Given the description of an element on the screen output the (x, y) to click on. 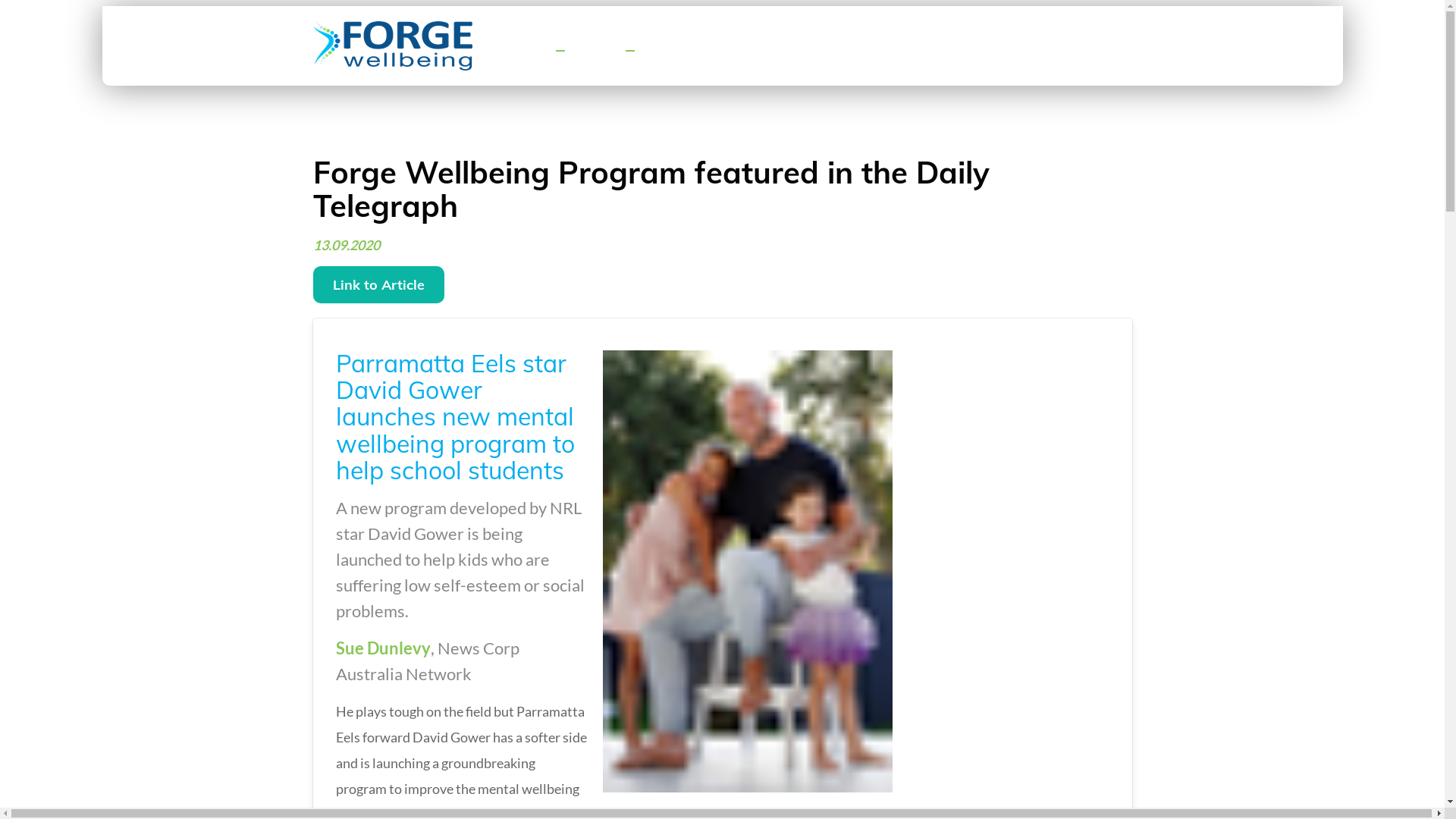
Toggle navigation Element type: text (628, 50)
Link to Article Element type: text (377, 284)
Sue Dunlevy Element type: text (382, 647)
Toggle navigation Element type: text (559, 50)
